Given the description of an element on the screen output the (x, y) to click on. 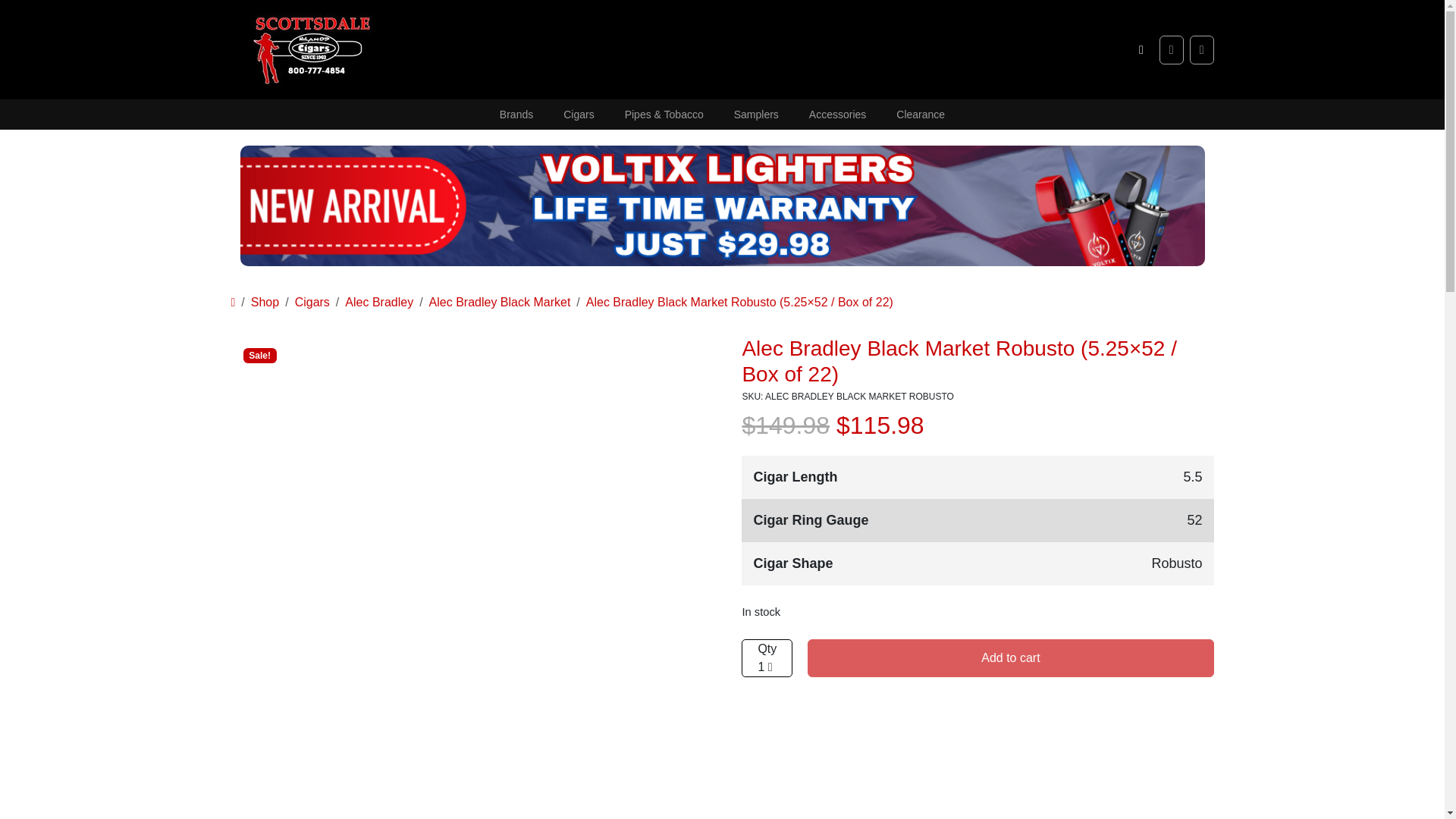
Samplers (756, 114)
Cigars (578, 114)
Alec Bradley Black Market (499, 301)
Brands (516, 114)
Shop (264, 301)
Clearance (919, 114)
Cigars (312, 301)
Add to cart (1010, 658)
More Information (382, 816)
Accessories (836, 114)
